Given the description of an element on the screen output the (x, y) to click on. 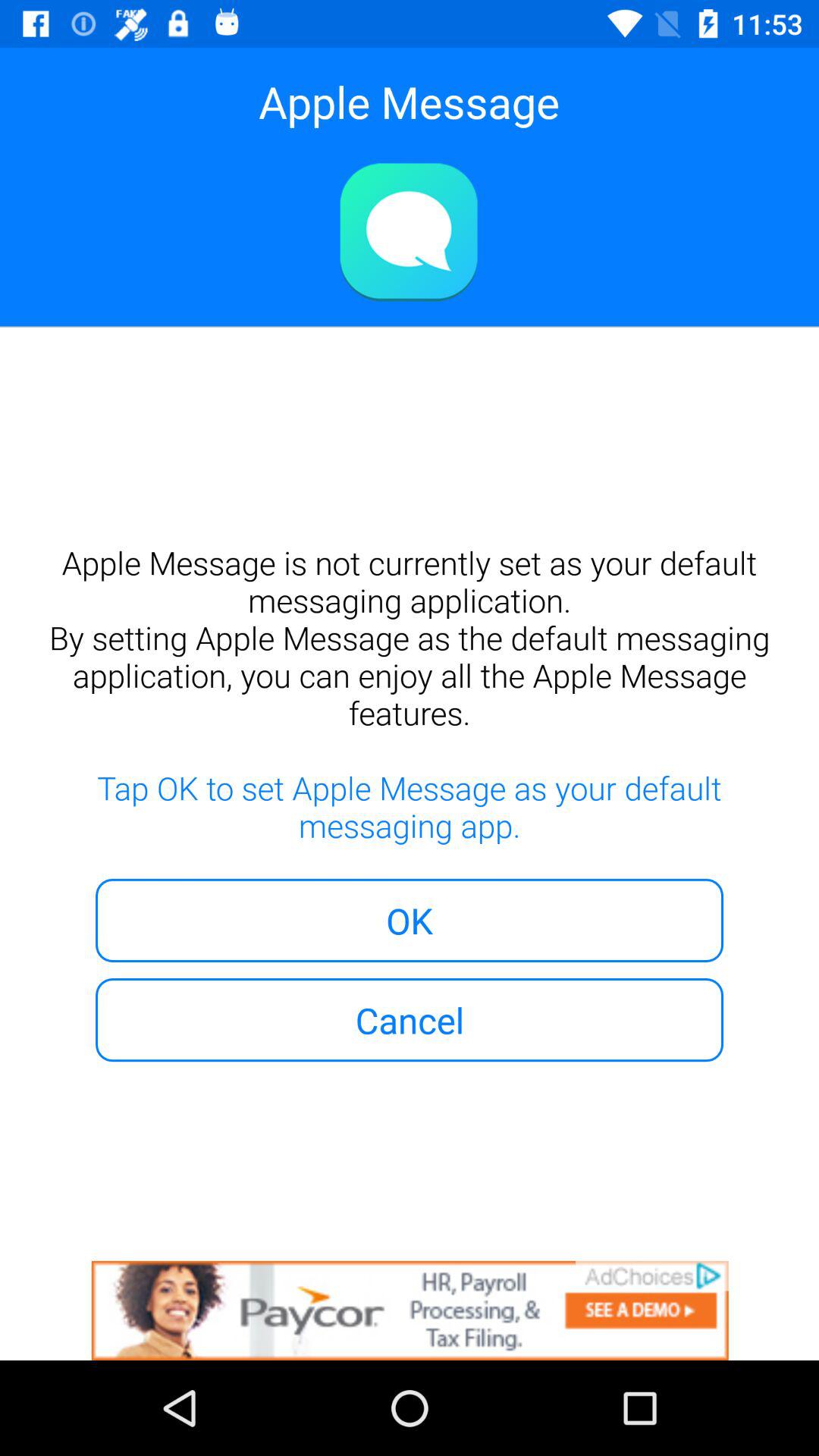
the button is used to advertisement option (409, 1310)
